Given the description of an element on the screen output the (x, y) to click on. 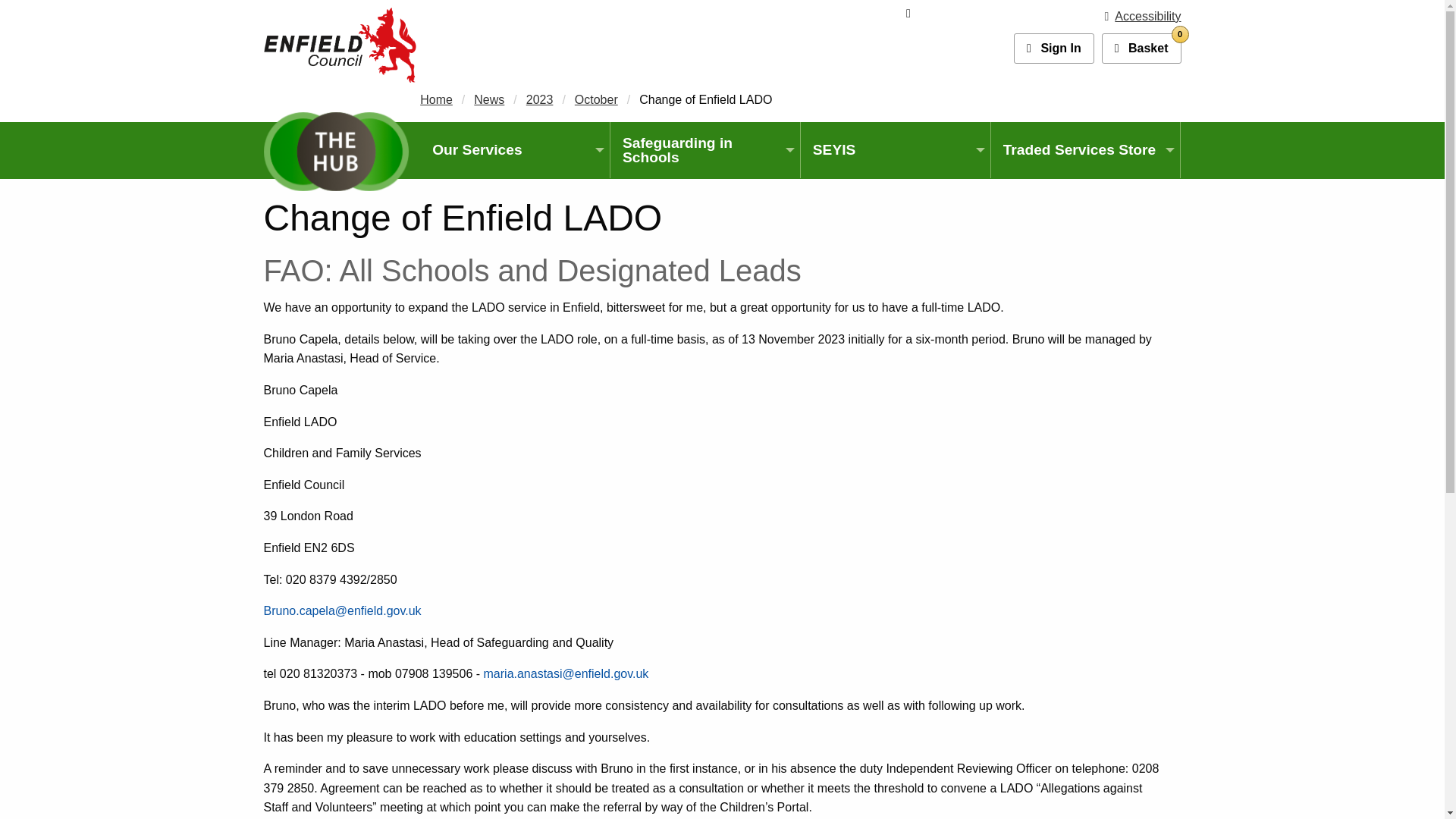
October (596, 99)
new.enfield.gov.uk (339, 43)
2023 (539, 99)
Accessibility (1142, 15)
News (488, 99)
Our Services (515, 149)
Home (436, 99)
Safeguarding in Schools (1141, 48)
0 items in your basket (704, 150)
Sign In (1141, 48)
